Given the description of an element on the screen output the (x, y) to click on. 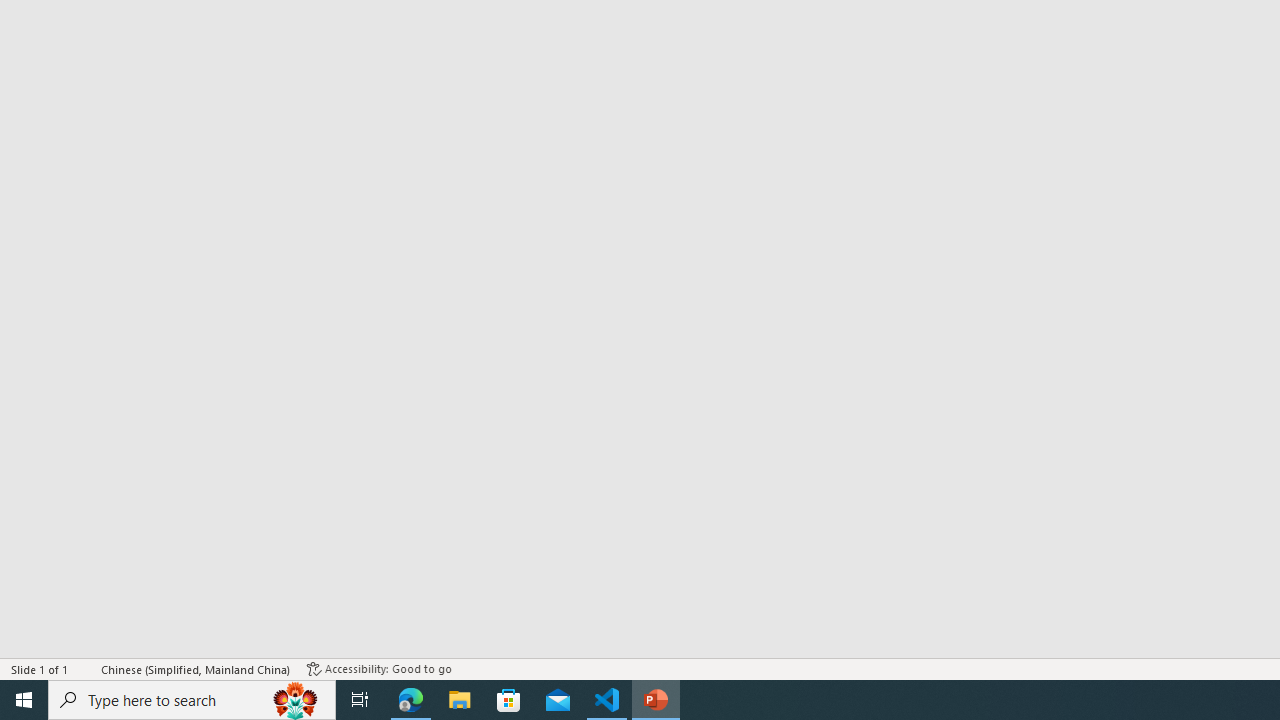
Accessibility Checker Accessibility: Good to go (379, 668)
Spell Check  (86, 668)
